Given the description of an element on the screen output the (x, y) to click on. 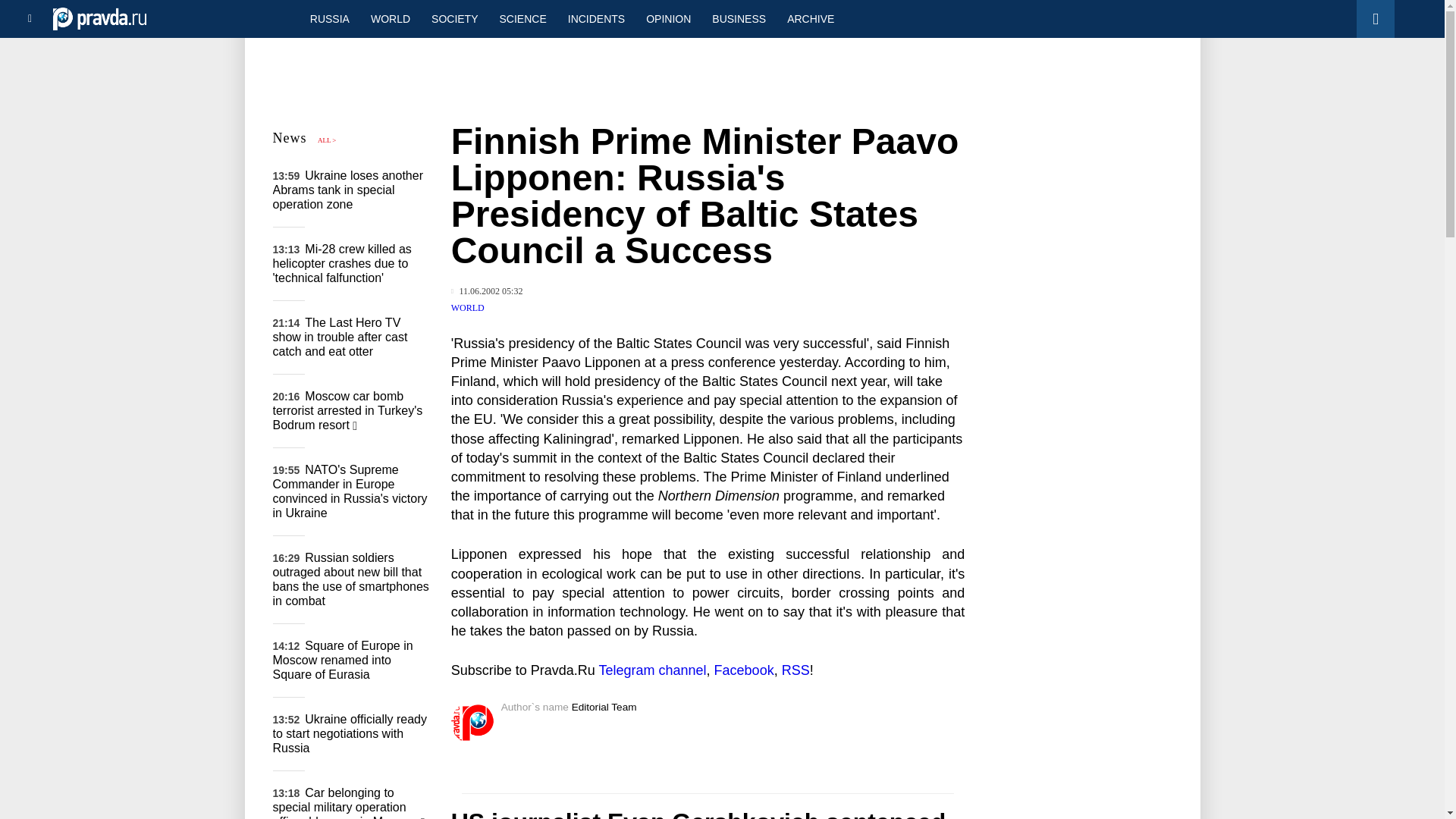
ARCHIVE (810, 18)
Facebook (744, 670)
SCIENCE (523, 18)
Editorial Team (604, 706)
Telegram channel (652, 670)
RSS (795, 670)
RUSSIA (329, 18)
OPINION (667, 18)
News (290, 137)
Square of Europe in Moscow renamed into Square of Eurasia (343, 659)
WORLD (467, 307)
Ukraine loses another Abrams tank in special operation zone (348, 189)
